Given the description of an element on the screen output the (x, y) to click on. 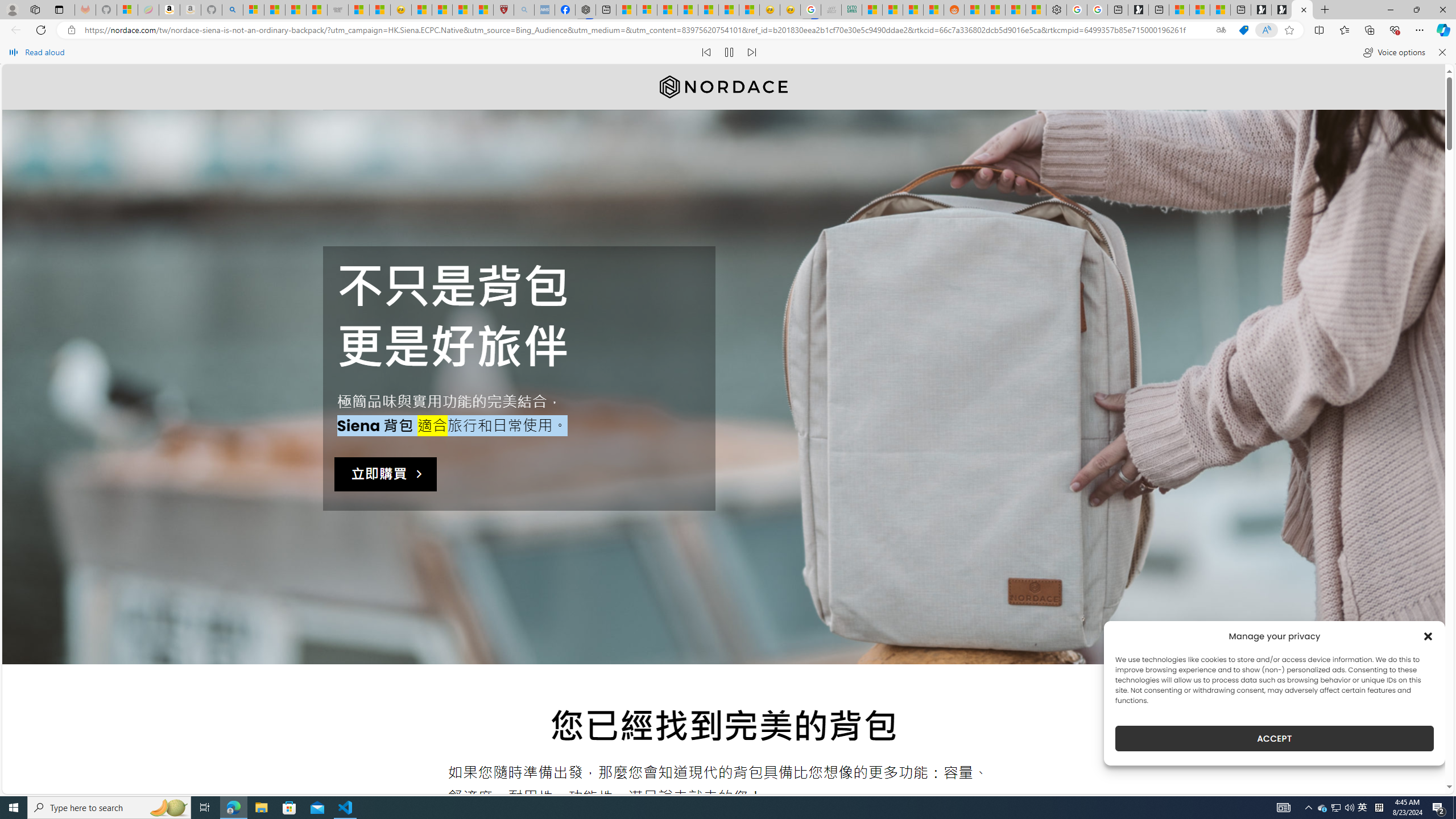
DITOGAMES AG Imprint (851, 9)
Microsoft account | Privacy (646, 9)
Microsoft Start Gaming (1137, 9)
Class: cmplz-close (1428, 636)
Close read aloud (1441, 52)
Navy Quest (830, 9)
MSN (933, 9)
Play Free Online Games | Games from Microsoft Start (1281, 9)
